Given the description of an element on the screen output the (x, y) to click on. 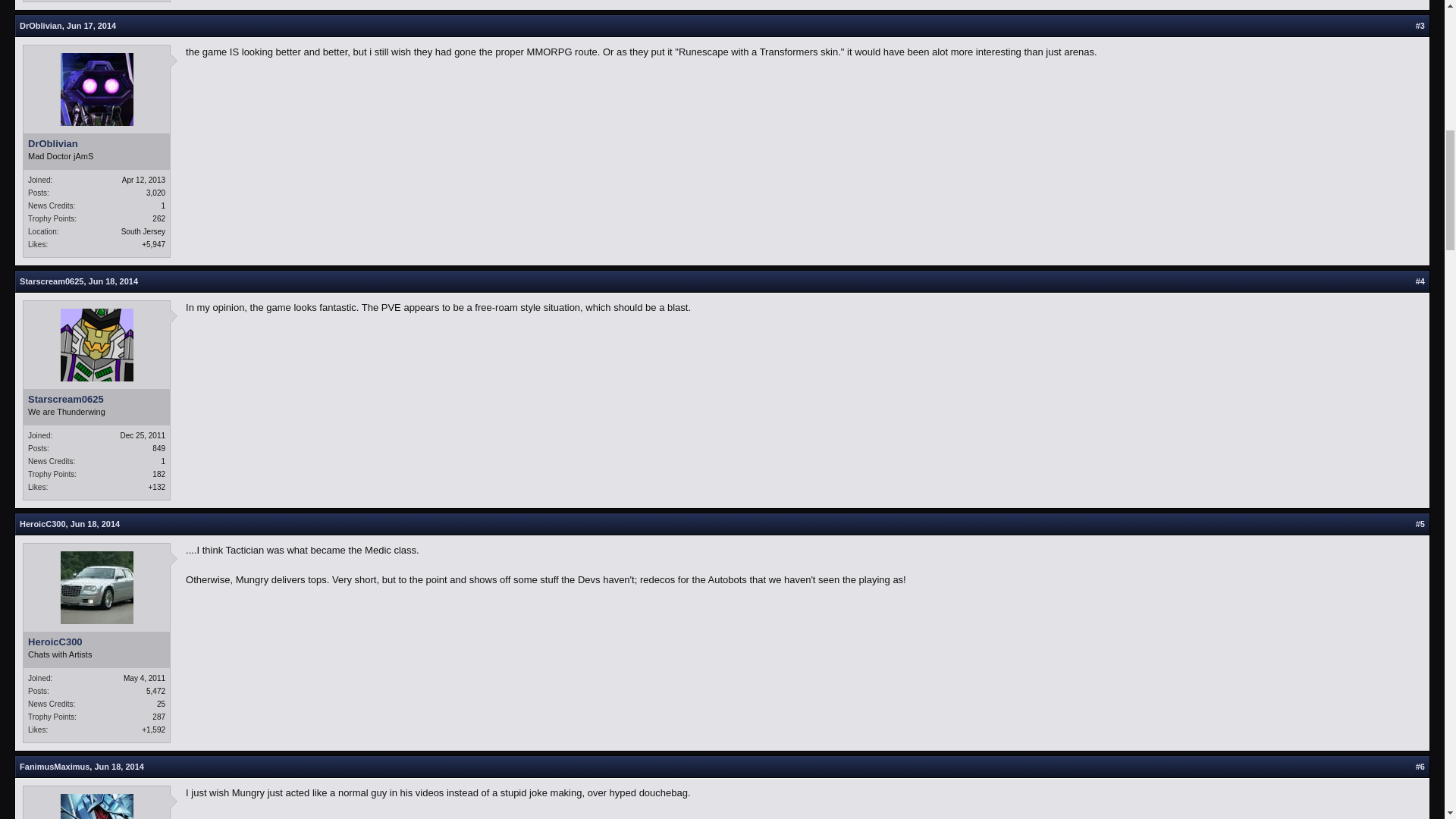
Permalink (113, 280)
DrOblivian (41, 25)
Permalink (94, 523)
Jun 17, 2014 (91, 25)
Permalink (91, 25)
Permalink (118, 766)
